Given the description of an element on the screen output the (x, y) to click on. 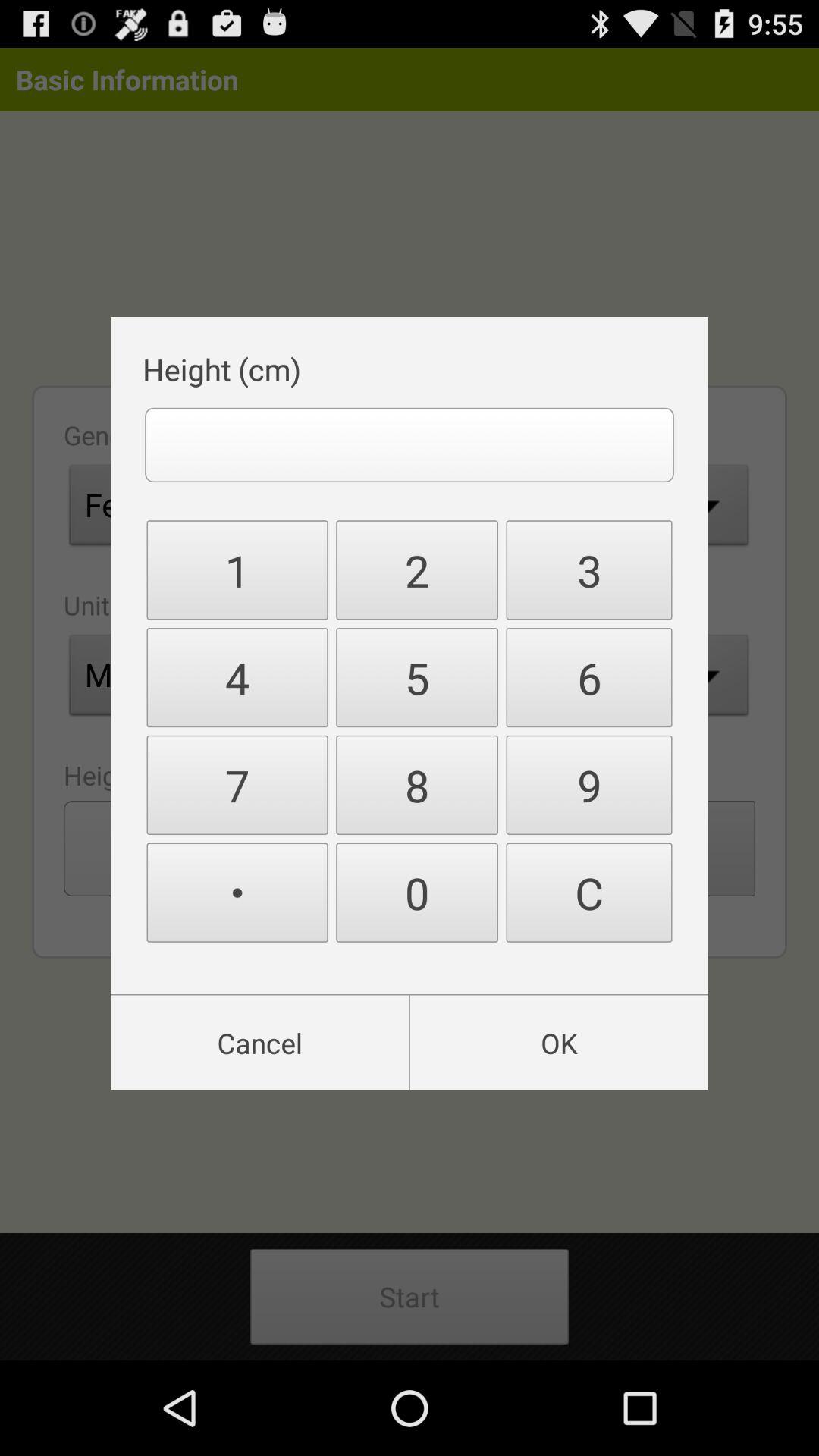
select the item above the 4 (417, 569)
